Given the description of an element on the screen output the (x, y) to click on. 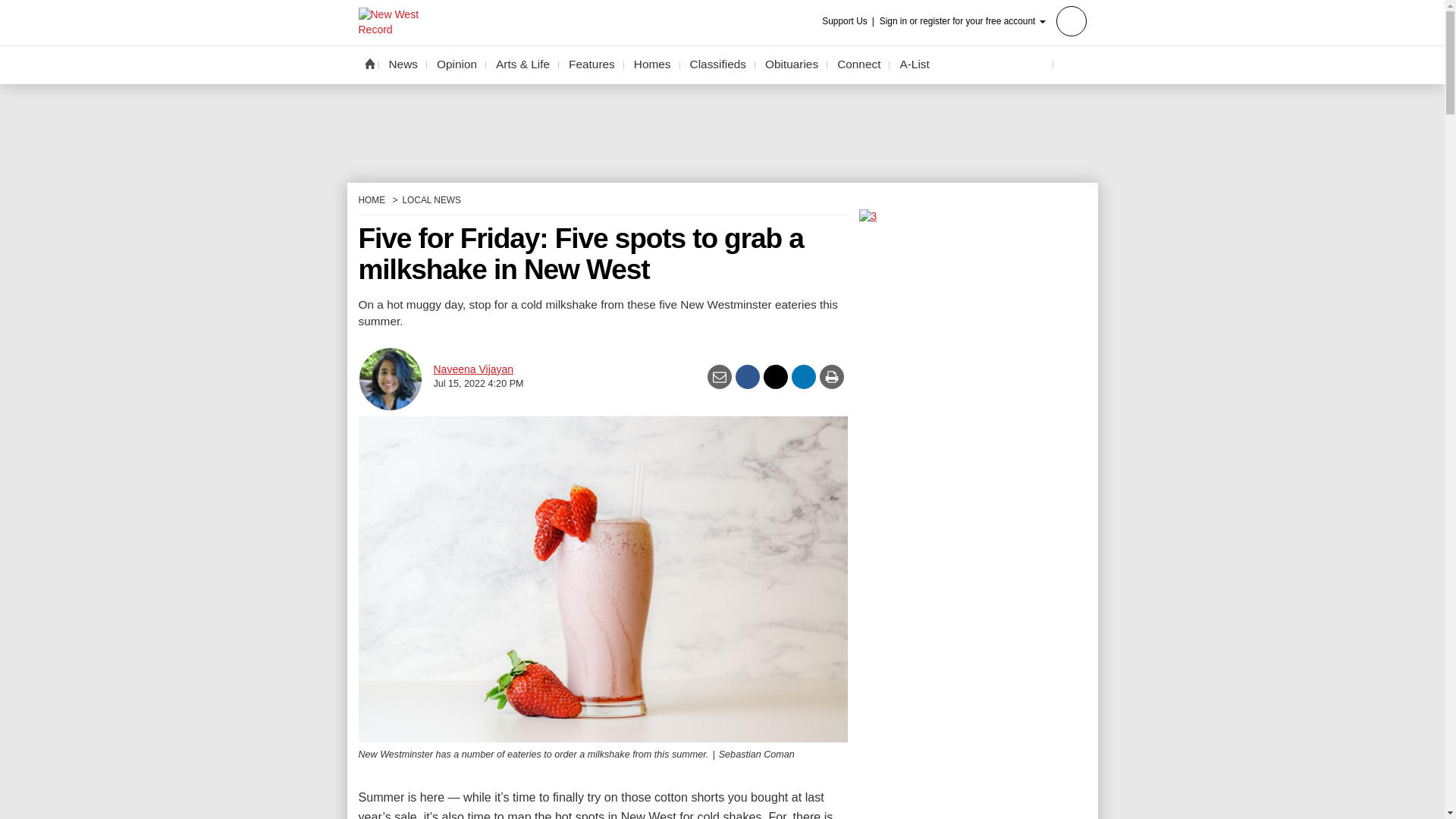
Opinion (456, 64)
News (403, 64)
Support Us (849, 21)
Home (368, 63)
Sign in or register for your free account (982, 20)
